Given the description of an element on the screen output the (x, y) to click on. 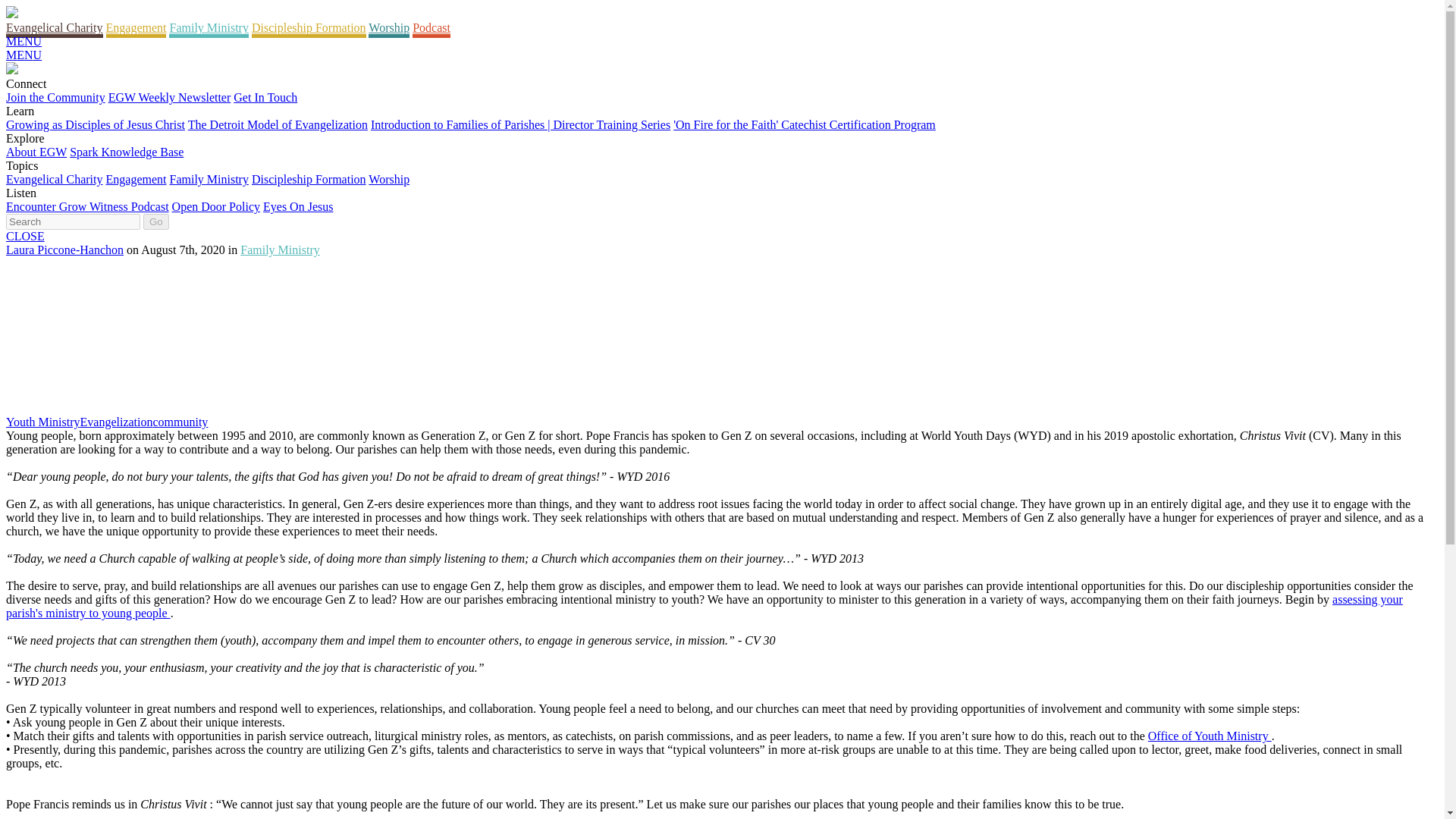
Engagement (349, 334)
Eyes On Jesus (136, 178)
Discipleship Formation (298, 205)
community (308, 178)
Family Ministry (180, 421)
Podcast (207, 178)
Evangelization (430, 29)
Evangelical Charity (116, 421)
Family Ministry (54, 178)
